Given the description of an element on the screen output the (x, y) to click on. 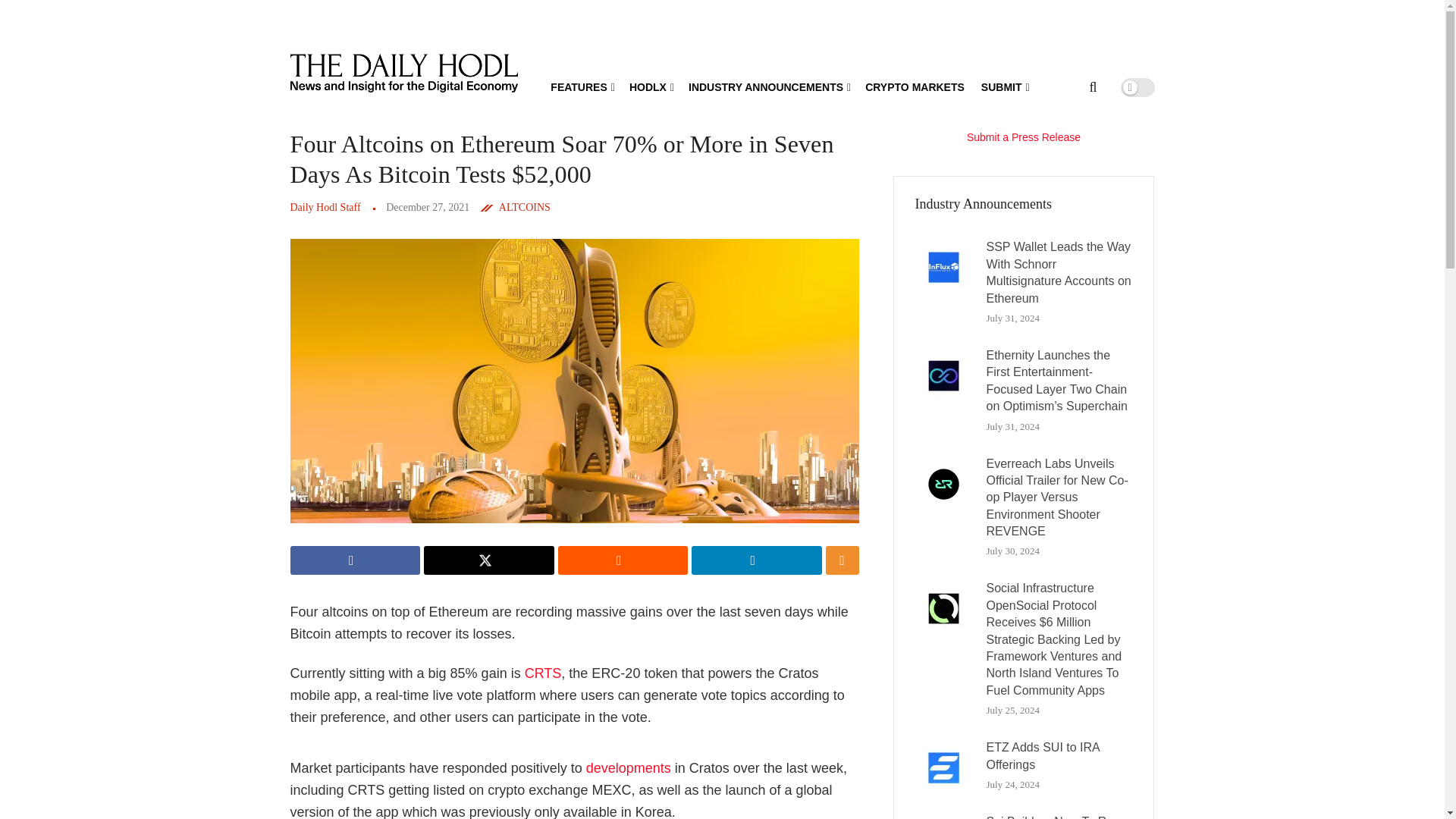
SUBMIT (1004, 86)
HODLX (649, 86)
FEATURES (581, 86)
CRYPTO MARKETS (913, 86)
INDUSTRY ANNOUNCEMENTS (768, 86)
